Given the description of an element on the screen output the (x, y) to click on. 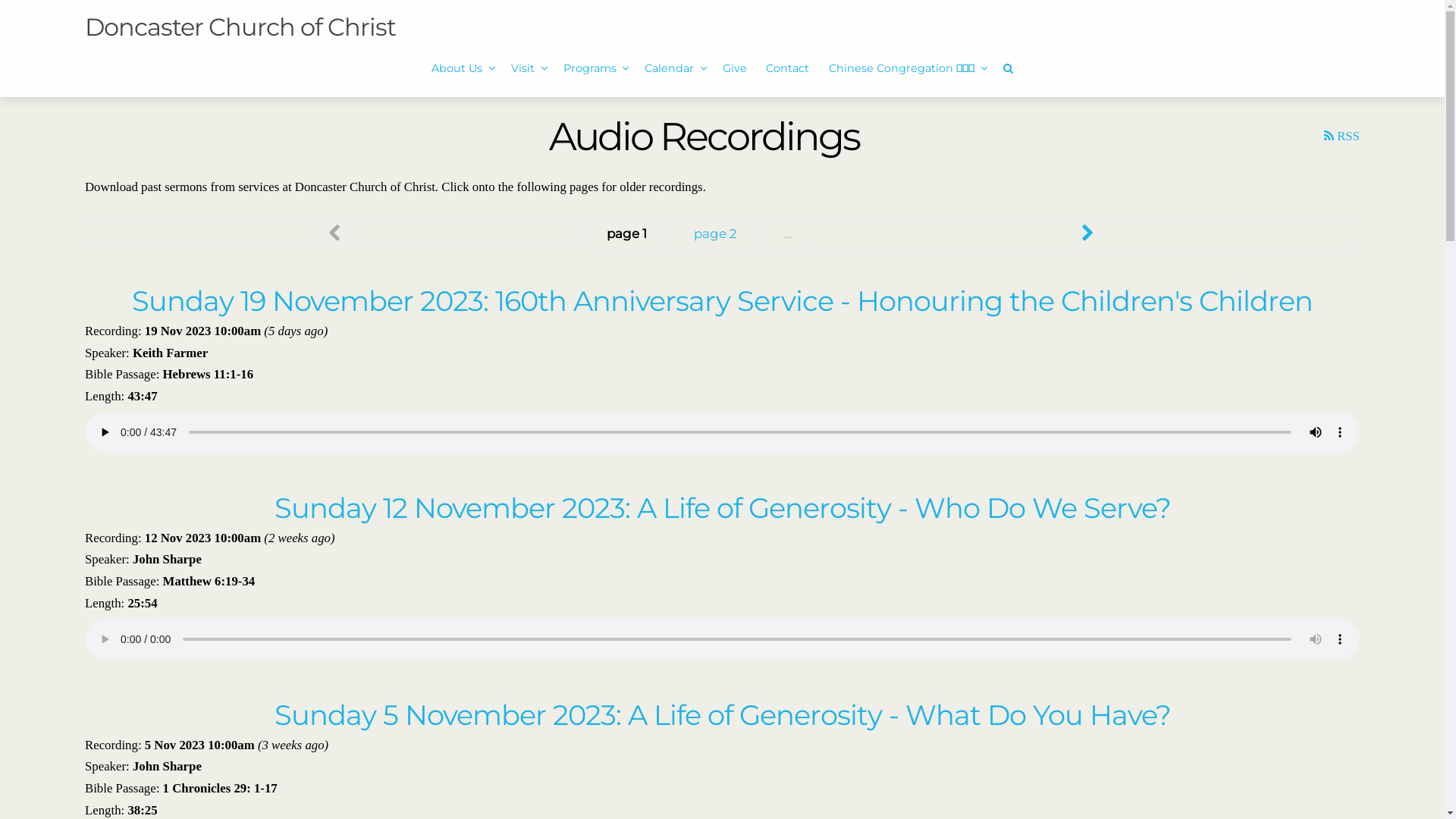
Doncaster Church of Christ Element type: text (239, 25)
Contact Element type: text (787, 68)
Give Element type: text (734, 68)
Programs Element type: text (594, 68)
Calendar Element type: text (673, 68)
About Us Element type: text (462, 68)
Visit Element type: text (527, 68)
page 2 Element type: text (715, 233)
RSS Element type: text (1341, 135)
